Given the description of an element on the screen output the (x, y) to click on. 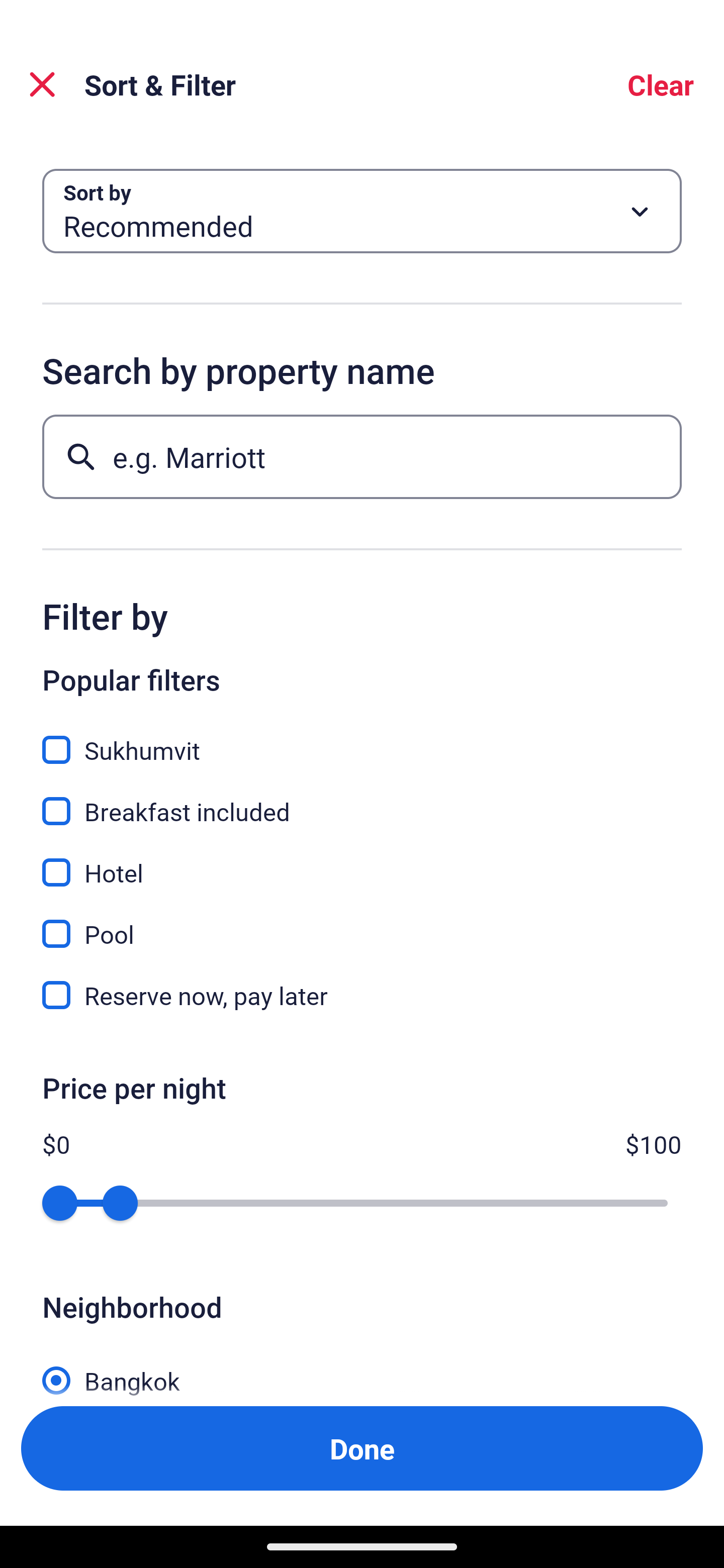
Close Sort and Filter (42, 84)
Clear (660, 84)
Sort by Button Recommended (361, 211)
e.g. Marriott Button (361, 455)
Sukhumvit, Sukhumvit (361, 738)
Breakfast included, Breakfast included (361, 800)
Hotel, Hotel (361, 861)
Pool, Pool (361, 922)
Reserve now, pay later, Reserve now, pay later (361, 995)
Apply and close Sort and Filter Done (361, 1448)
